Given the description of an element on the screen output the (x, y) to click on. 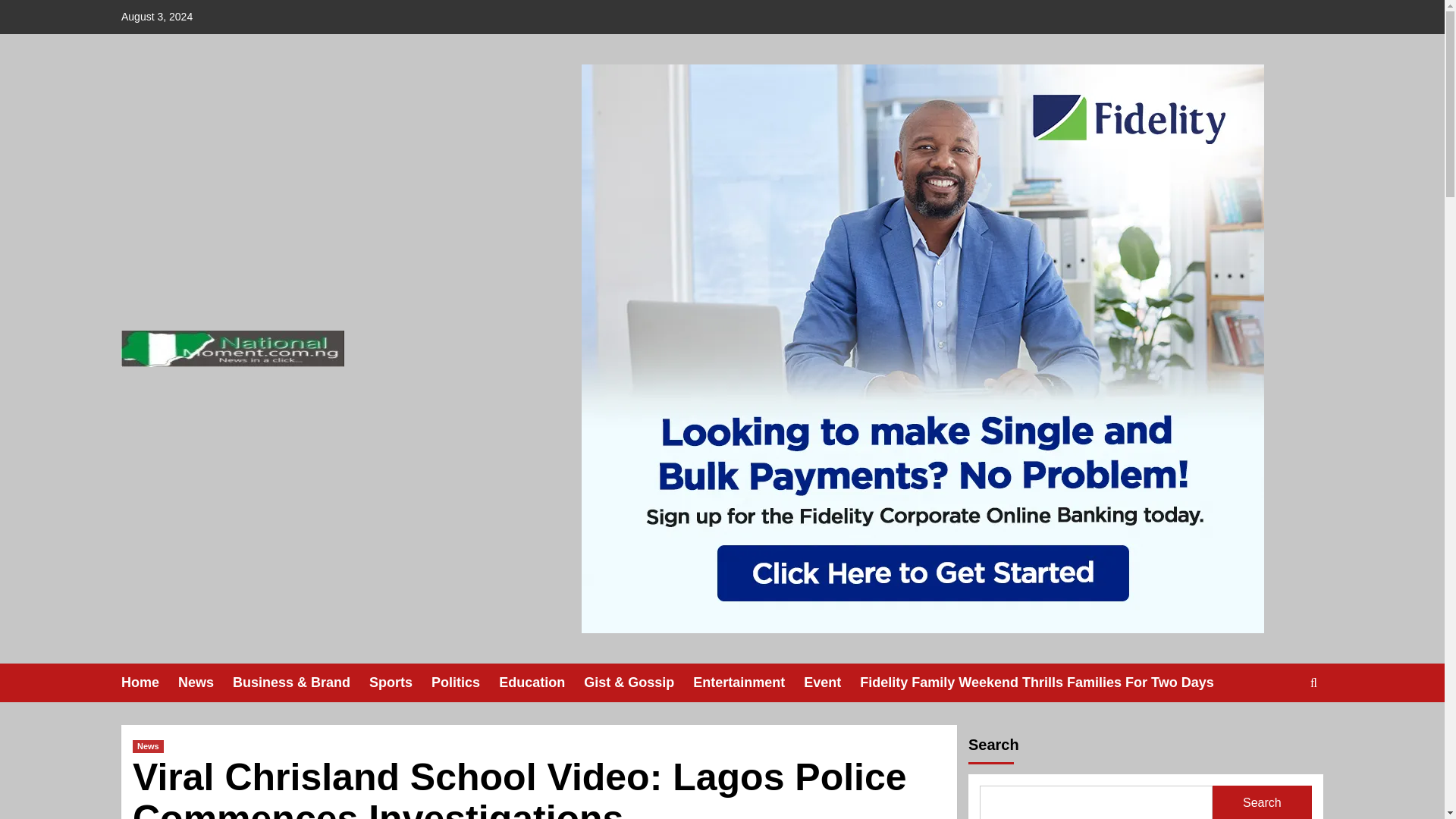
Politics (464, 682)
Event (831, 682)
Education (541, 682)
Search (1278, 729)
Entertainment (748, 682)
News (204, 682)
Fidelity Family Weekend Thrills Families For Two Days (1045, 682)
News (147, 746)
Home (148, 682)
Sports (399, 682)
